Given the description of an element on the screen output the (x, y) to click on. 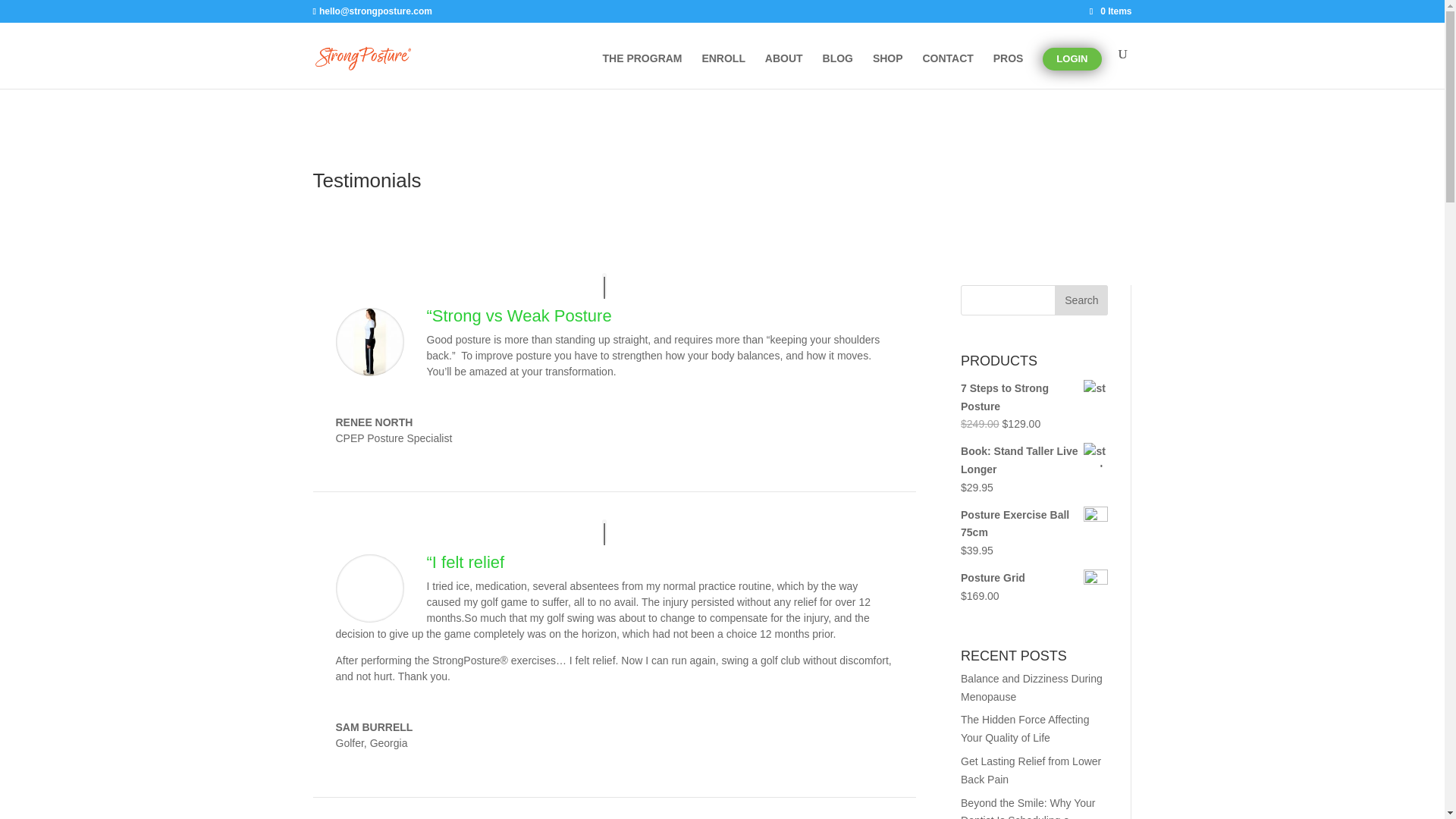
Posture Grid (1034, 578)
ABOUT (784, 70)
Search (1081, 300)
THE PROGRAM (642, 70)
Search (1081, 300)
0 Items (1110, 10)
ENROLL (723, 70)
CONTACT (946, 70)
The Hidden Force Affecting Your Quality of Life (1024, 728)
7 Steps to Strong Posture (1034, 398)
Balance and Dizziness During Menopause (1031, 687)
Get Lasting Relief from Lower Back Pain (1030, 770)
Book: Stand Taller Live Longer (1034, 461)
LOGIN (1071, 58)
Posture Exercise Ball 75cm (1034, 524)
